Given the description of an element on the screen output the (x, y) to click on. 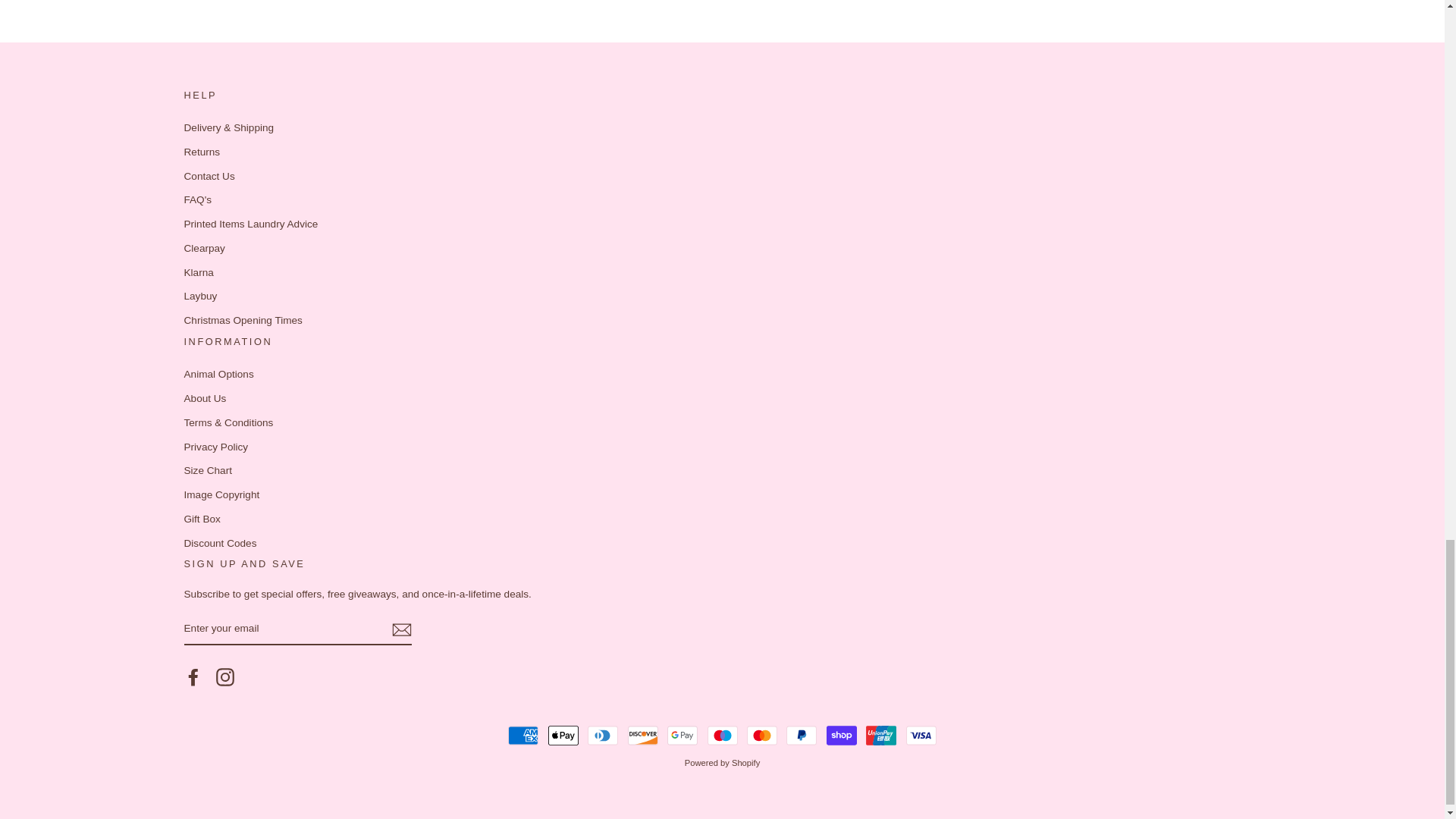
Lavish Little Style Baby on Instagram (224, 677)
Maestro (721, 735)
American Express (523, 735)
Shop Pay (842, 735)
Google Pay (681, 735)
Visa (920, 735)
Lavish Little Style Baby on Facebook (192, 677)
Apple Pay (563, 735)
PayPal (801, 735)
Discover (642, 735)
Diners Club (602, 735)
Mastercard (761, 735)
Union Pay (881, 735)
